Given the description of an element on the screen output the (x, y) to click on. 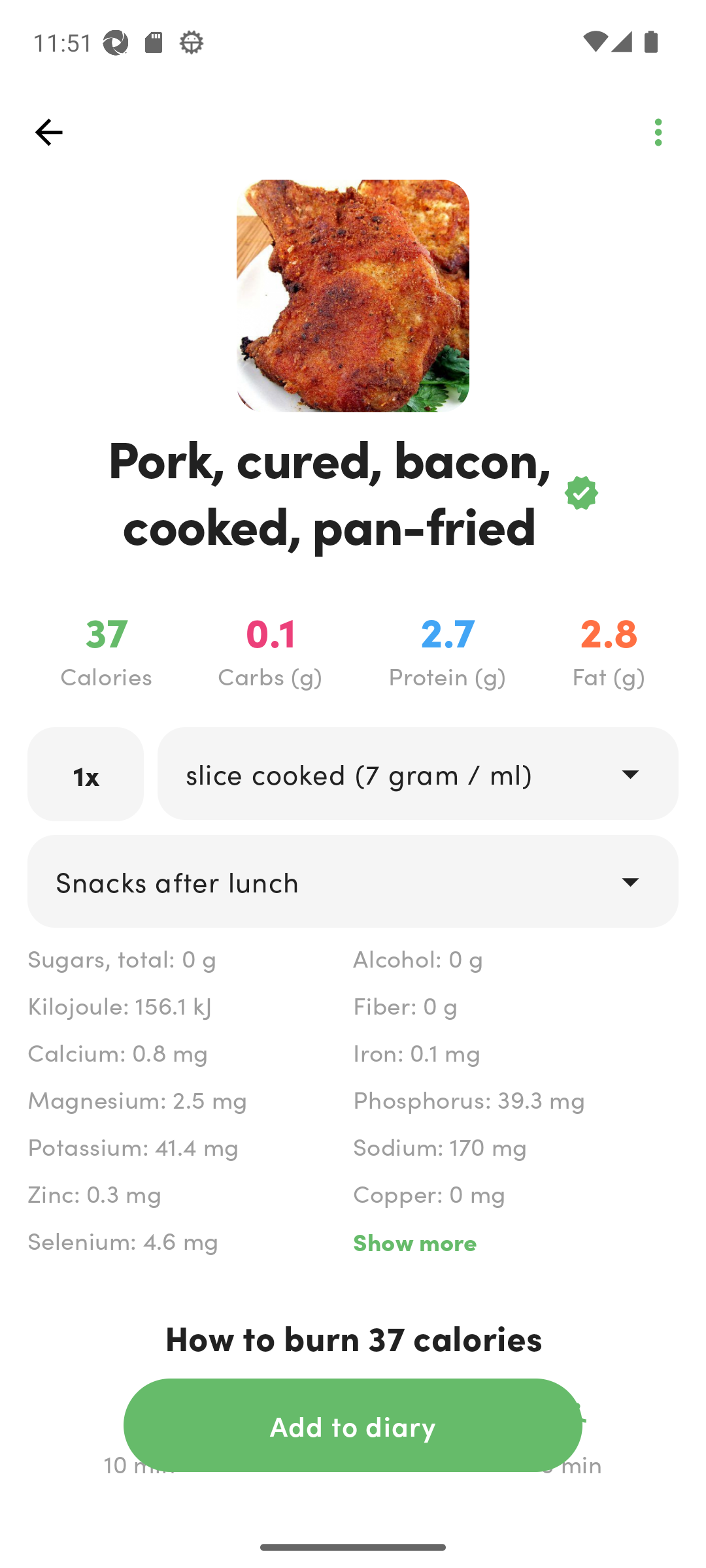
top_left_action (48, 132)
top_left_action (658, 132)
1x labeled_edit_text (85, 774)
drop_down slice cooked (7 gram / ml) (417, 773)
drop_down Snacks after lunch (352, 881)
Show more (515, 1240)
action_button Add to diary (352, 1425)
